Given the description of an element on the screen output the (x, y) to click on. 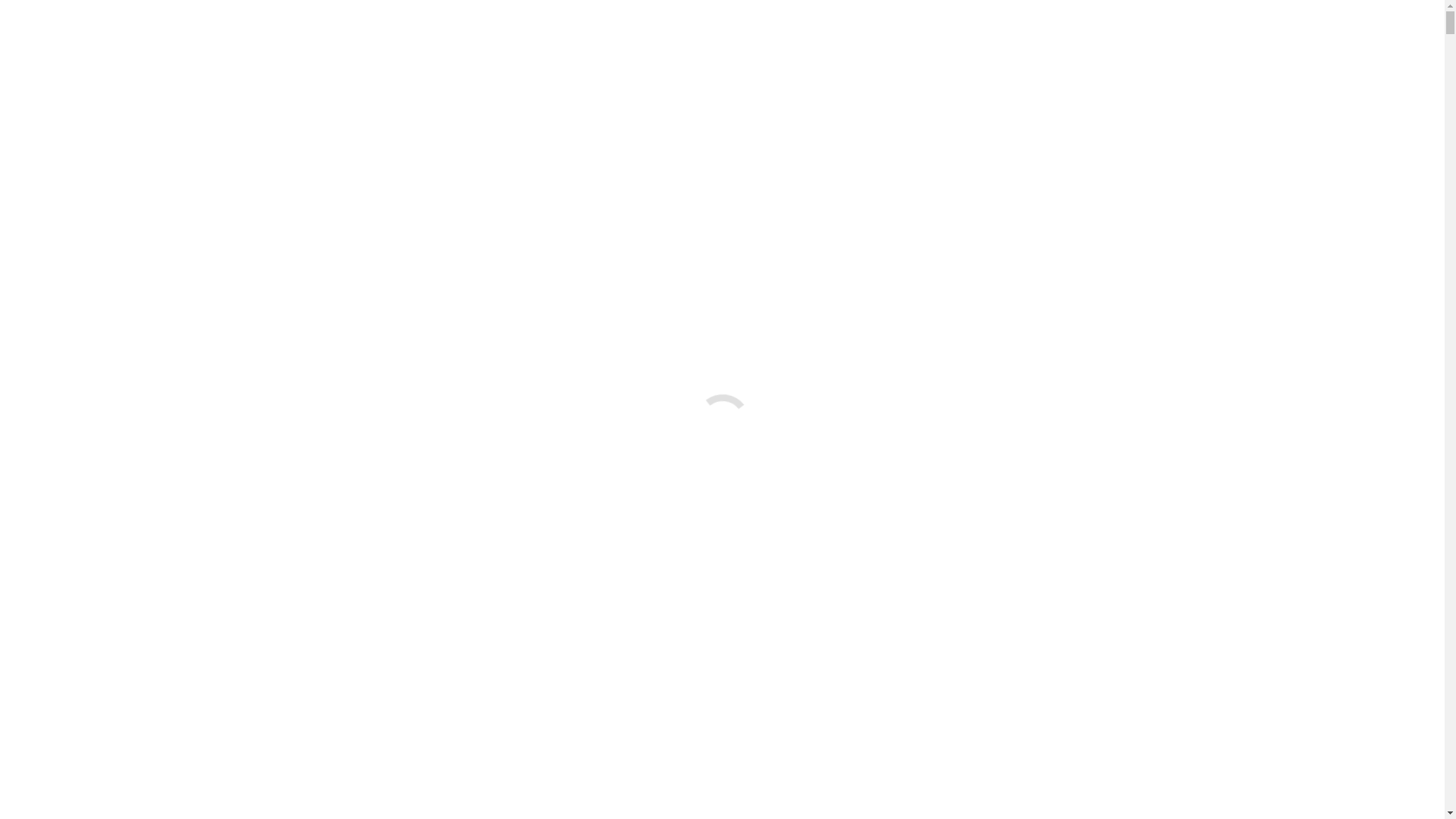
Tel. + 1 832 841 4439 Element type: text (53, 18)
